Given the description of an element on the screen output the (x, y) to click on. 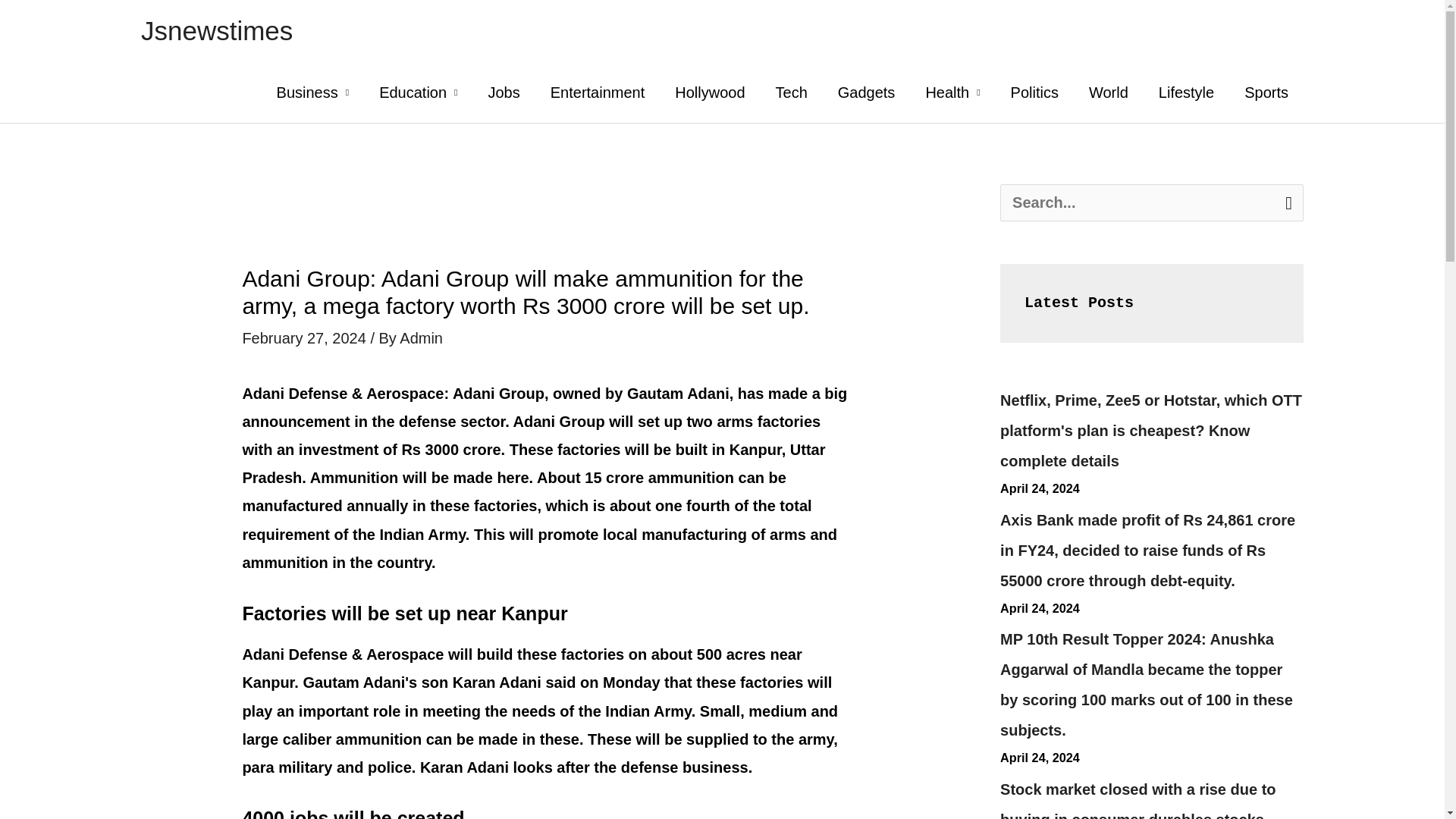
Jobs (502, 92)
Business (313, 92)
Search (1286, 201)
Hollywood (709, 92)
Education (417, 92)
Health (952, 92)
Tech (791, 92)
World (1108, 92)
Search (1286, 201)
Lifestyle (1185, 92)
Politics (1034, 92)
Entertainment (598, 92)
